Given the description of an element on the screen output the (x, y) to click on. 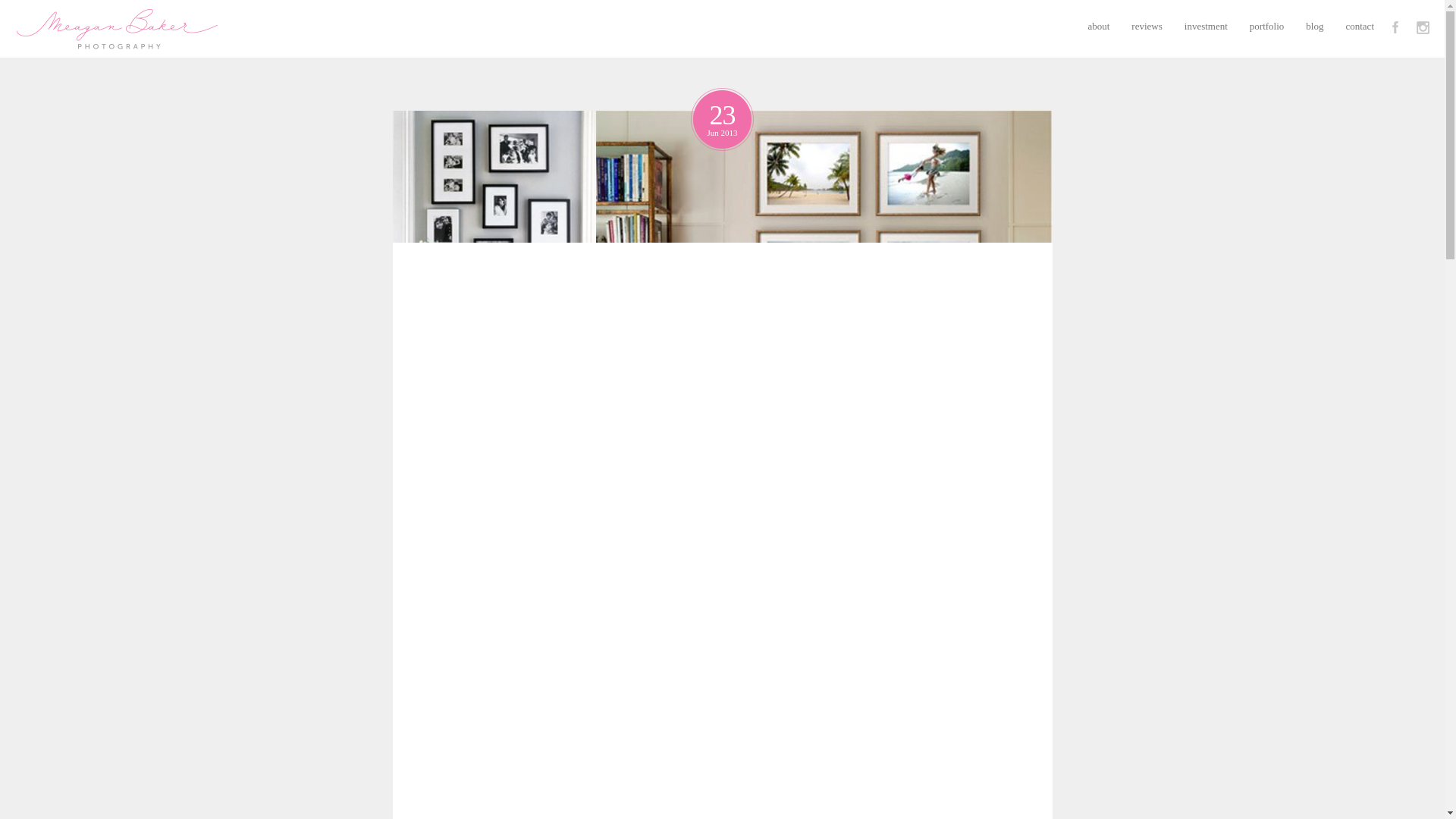
investment (1206, 25)
contact (1359, 25)
reviews (1146, 25)
portfolio (1266, 25)
about (1098, 25)
blog (1314, 25)
